Given the description of an element on the screen output the (x, y) to click on. 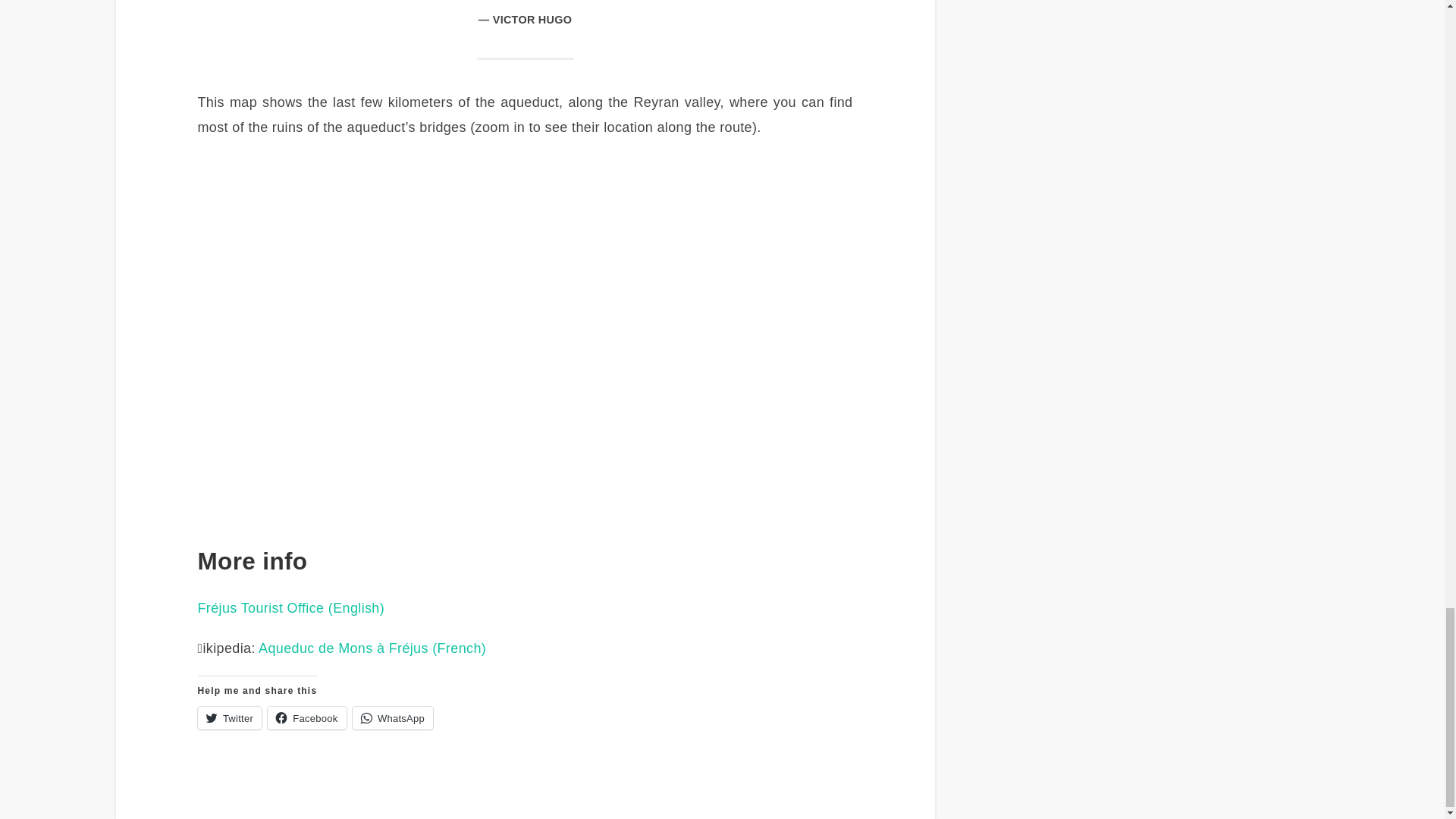
Click to share on Twitter (228, 717)
Click to share on WhatsApp (392, 717)
Twitter (228, 717)
Facebook (306, 717)
WhatsApp (392, 717)
Click to share on Facebook (306, 717)
